Given the description of an element on the screen output the (x, y) to click on. 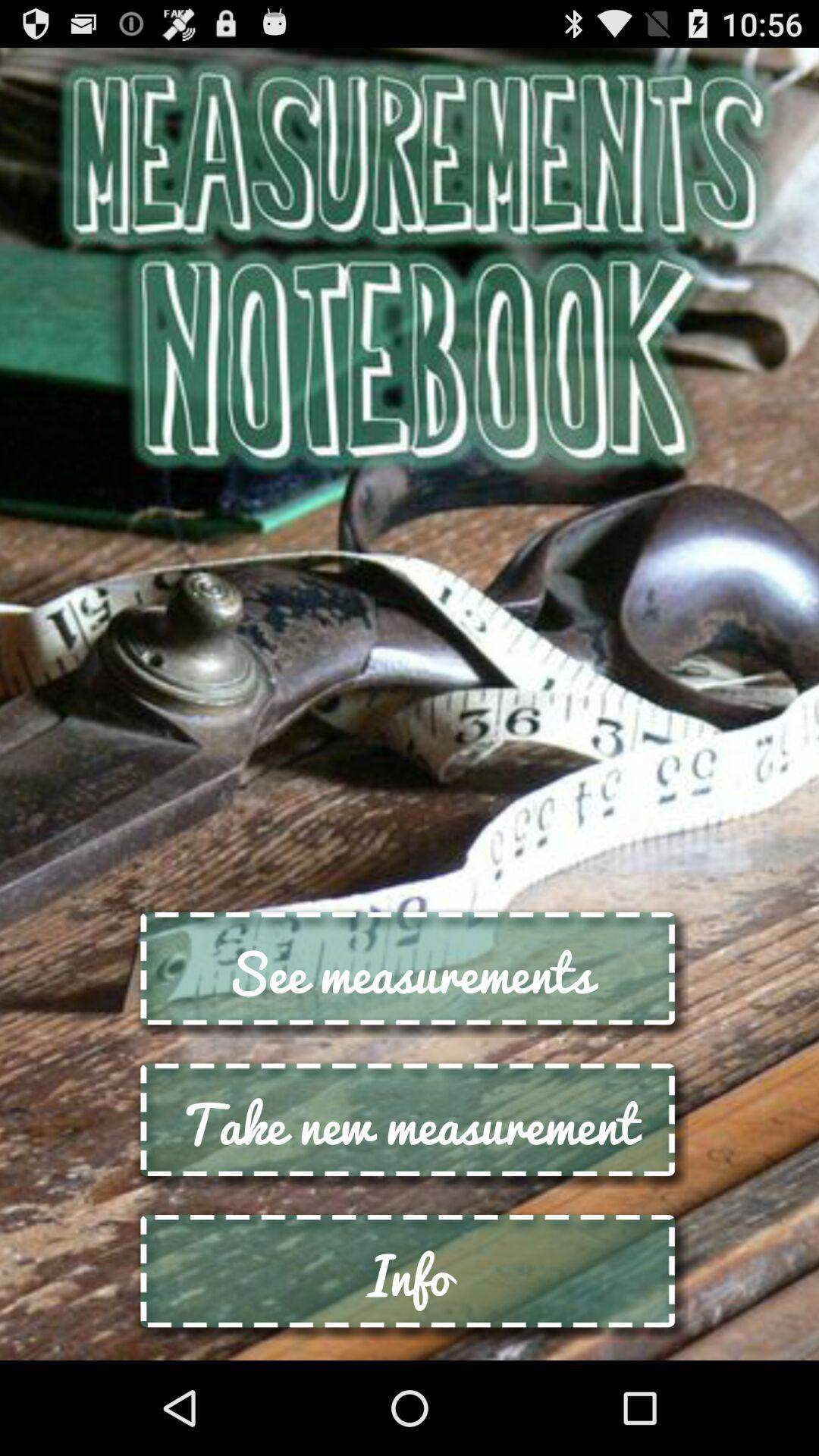
scroll to the see measurements (409, 971)
